Given the description of an element on the screen output the (x, y) to click on. 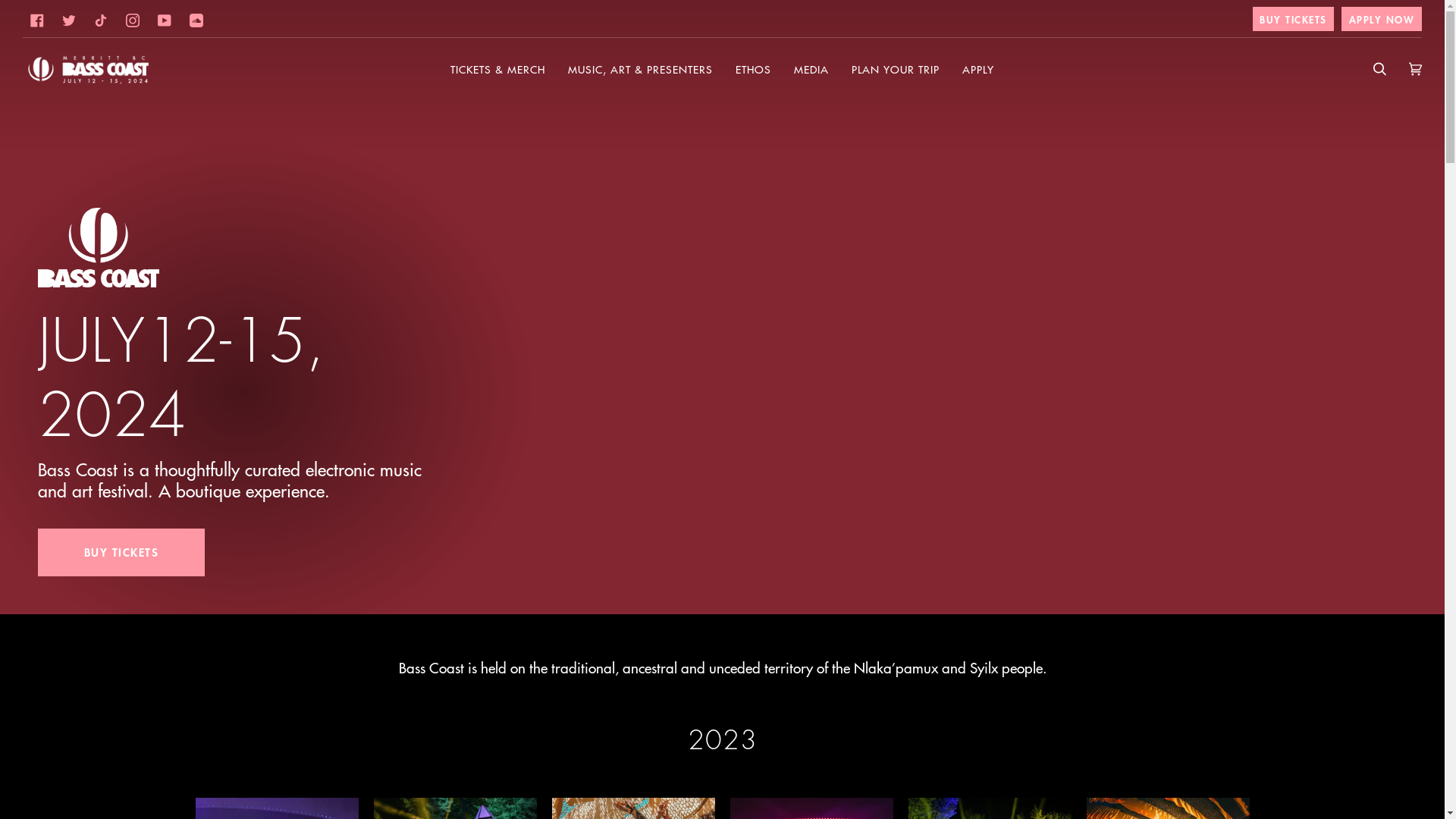
ETHOS Element type: text (753, 68)
YouTube Element type: text (164, 20)
APPLY NOW Element type: text (1381, 18)
Tiktok Element type: text (100, 20)
SEARCH Element type: text (1379, 68)
APPLY Element type: text (977, 68)
Instagram Element type: text (132, 20)
PLAN YOUR TRIP Element type: text (895, 68)
BUY TICKETS Element type: text (120, 552)
Facebook Element type: text (36, 20)
Soundcloud Element type: text (196, 20)
BUY TICKETS Element type: text (1293, 18)
MUSIC, ART & PRESENTERS Element type: text (640, 68)
CART
(0) Element type: text (1415, 68)
MEDIA Element type: text (811, 68)
TICKETS & MERCH Element type: text (497, 68)
Twitter Element type: text (68, 20)
